Given the description of an element on the screen output the (x, y) to click on. 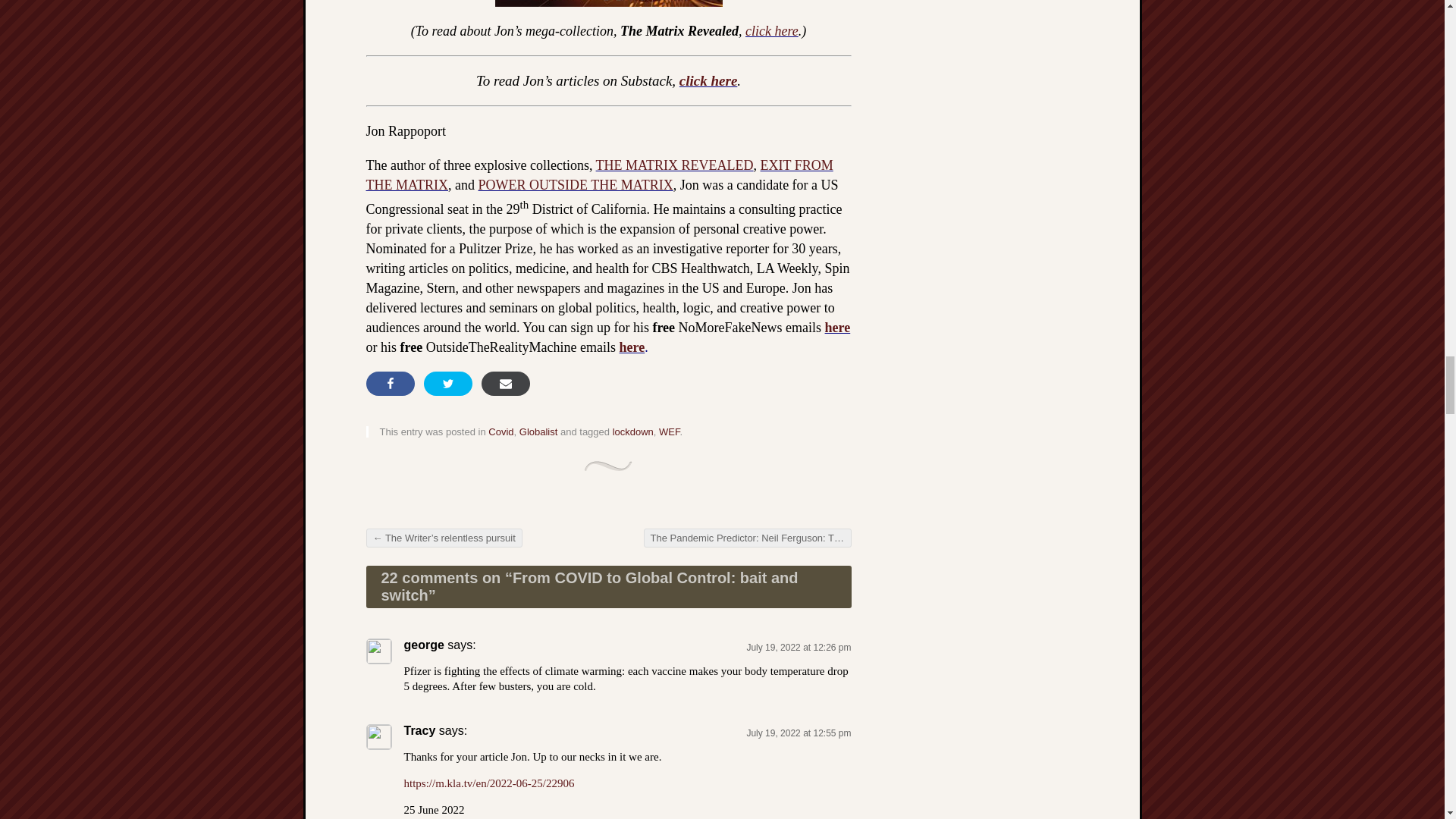
Covid (500, 431)
here (837, 327)
Share on Facebook (389, 383)
Share on Twitter (447, 383)
Globalist (538, 431)
lockdown (632, 431)
The Matrix Revealed --- CLICK HERE! (607, 3)
POWER OUTSIDE THE MATRIX (574, 184)
EXIT FROM THE MATRIX (598, 175)
click here (771, 30)
